Given the description of an element on the screen output the (x, y) to click on. 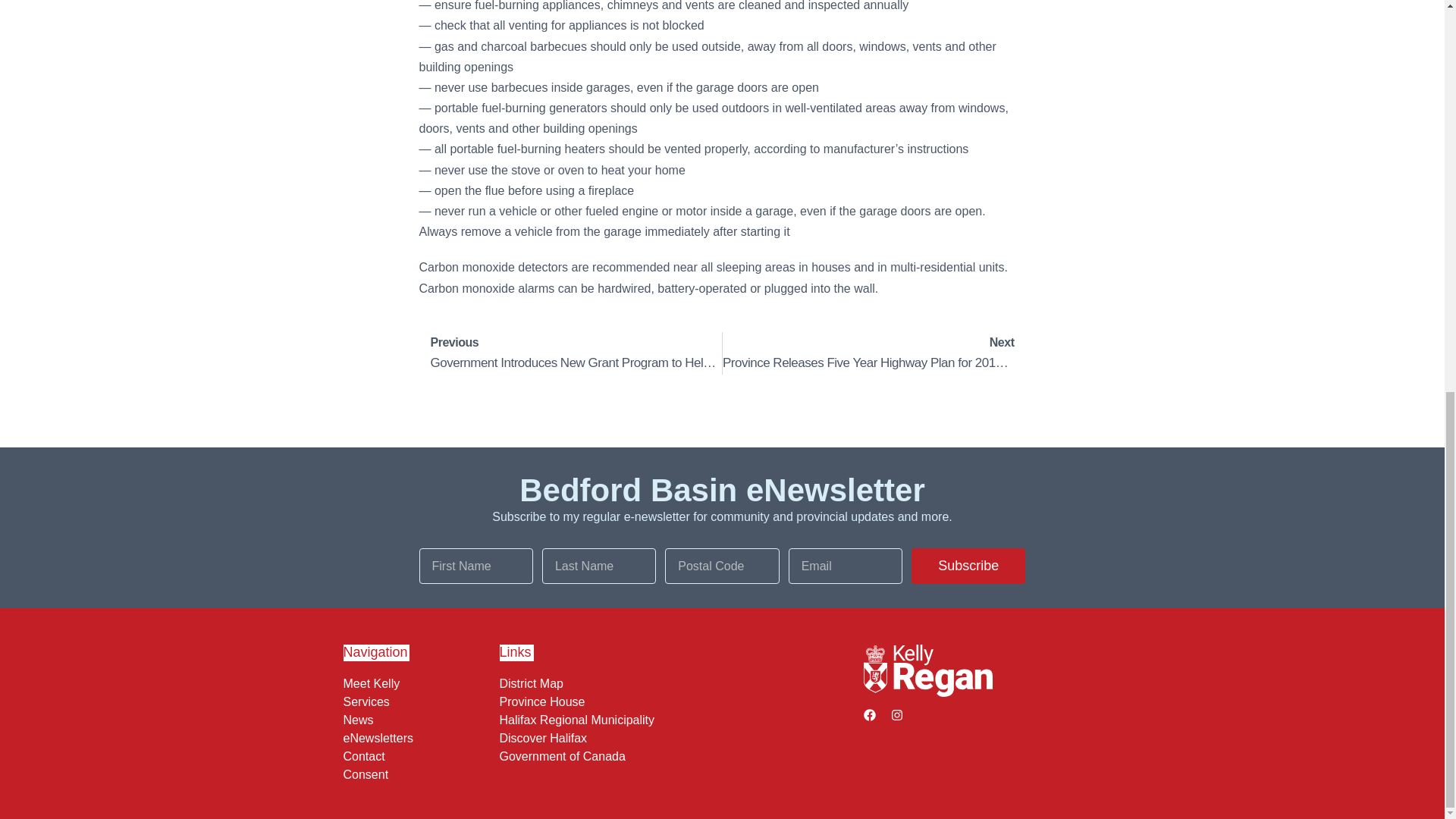
Halifax Regional Municipality (677, 720)
Meet Kelly (874, 353)
Government of Canada (417, 683)
Contact (677, 756)
eNewsletters (417, 756)
District Map (417, 738)
Subscribe (677, 683)
Consent (968, 565)
Services (417, 774)
Discover Halifax (417, 702)
News (677, 738)
Province House (417, 720)
